Given the description of an element on the screen output the (x, y) to click on. 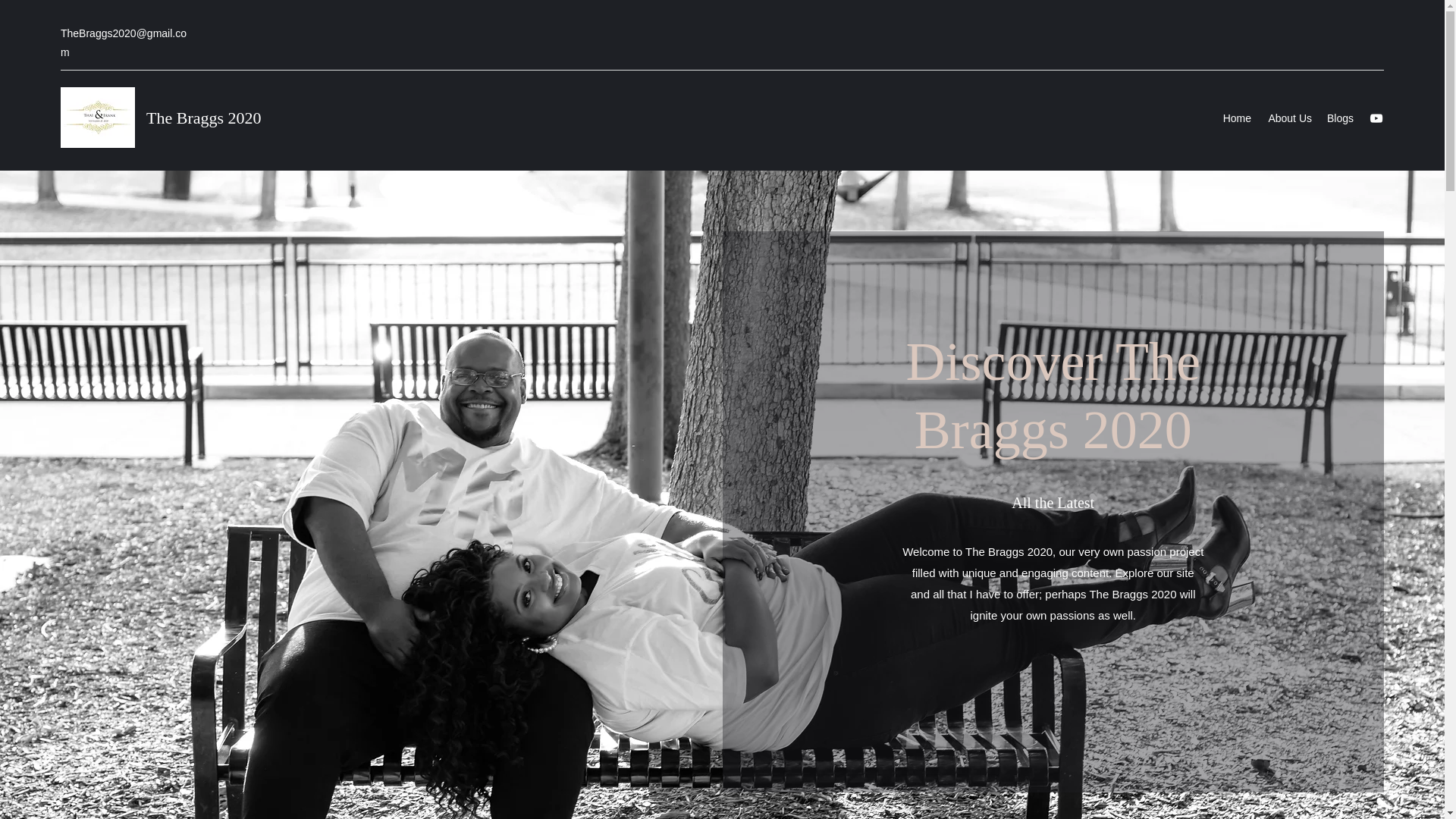
About Us (1289, 118)
Blogs (1340, 118)
The Braggs 2020 (204, 117)
Home (1236, 118)
